Given the description of an element on the screen output the (x, y) to click on. 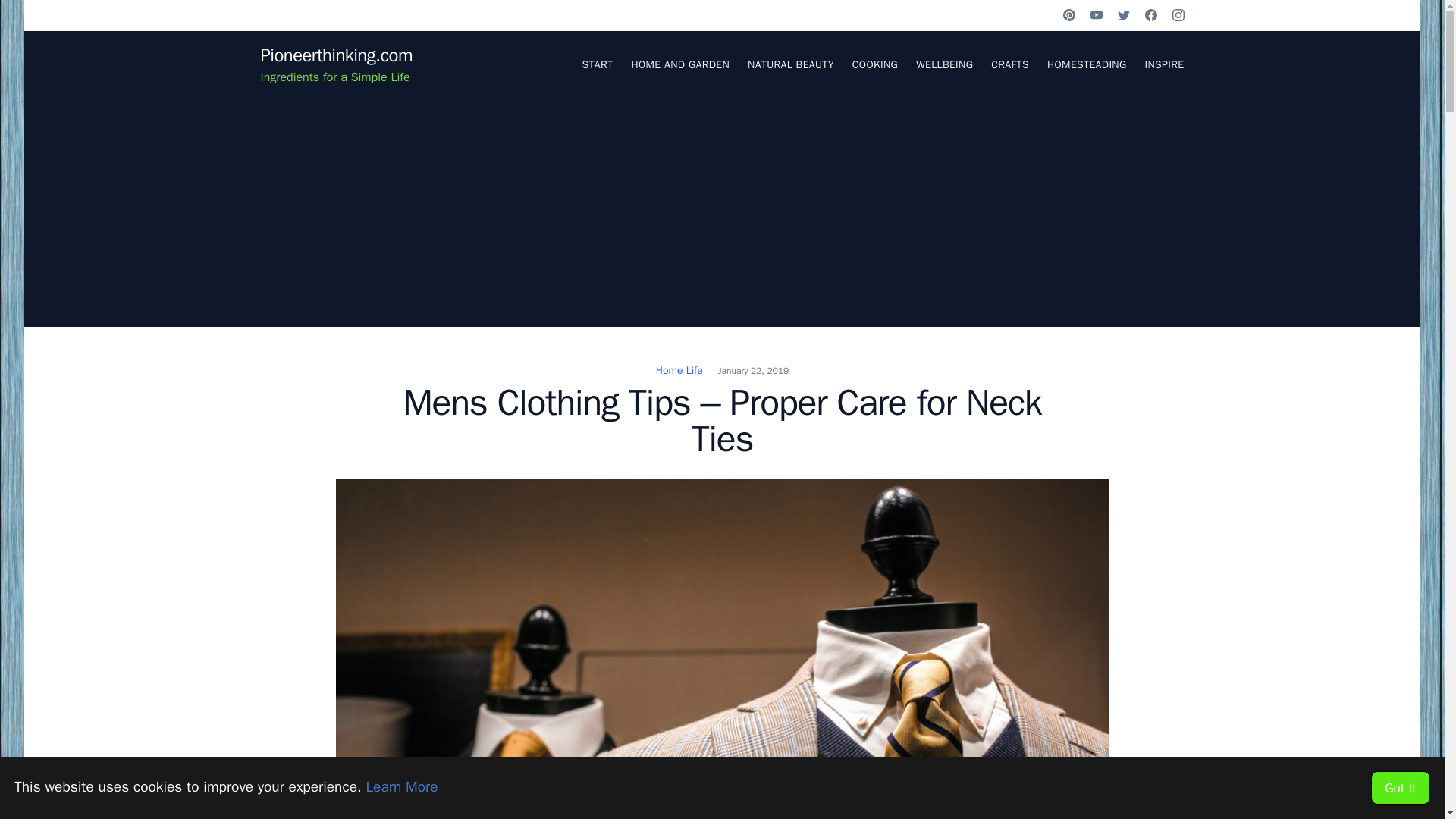
Pioneerthinking.com (336, 55)
Got It (1400, 787)
HOME AND GARDEN (679, 64)
Learn More (401, 787)
NATURAL BEAUTY (791, 64)
START (596, 64)
COOKING (874, 64)
Learn More (401, 787)
